Given the description of an element on the screen output the (x, y) to click on. 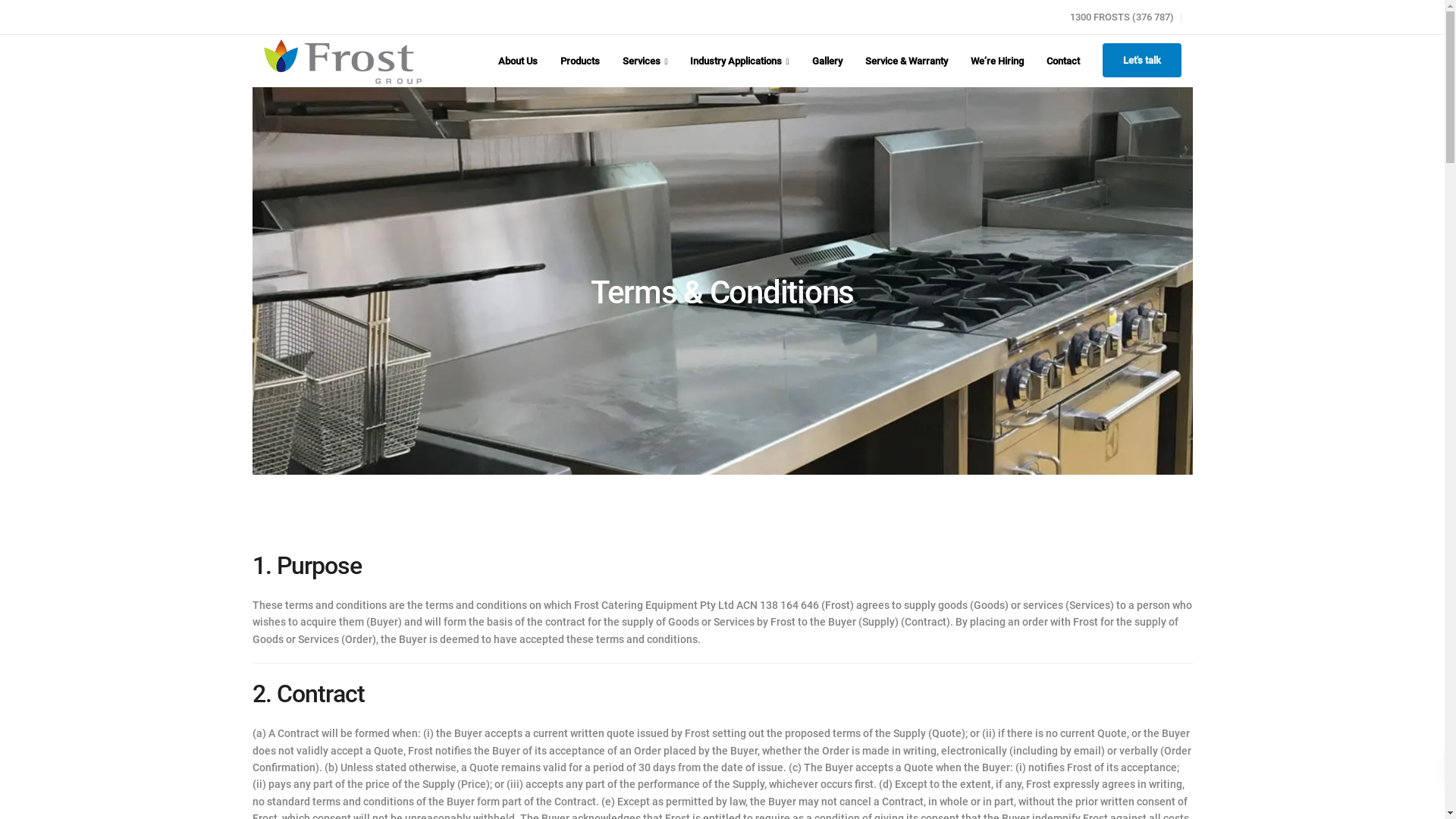
admin.sa@frostcatering.com.au Element type: text (857, 600)
admin@frostcatering.com.au Element type: text (584, 634)
08 8289 3154 Element type: text (817, 583)
Service & Warranty Element type: text (906, 59)
Home Element type: text (983, 540)
Services Element type: text (644, 59)
About Us Element type: text (990, 586)
Gallery Element type: text (826, 59)
Industry Applications Element type: text (739, 59)
Service & Warranty Element type: text (1014, 608)
Contact Element type: text (1062, 59)
Products Element type: text (990, 563)
Contact Element type: text (988, 631)
1300 FROSTS (376 787) Element type: text (1124, 16)
1300 FROSTS (376 787) Element type: text (577, 591)
@frost_group Element type: text (600, 651)
Web Design Newcastle - Redback Solutions Element type: text (1084, 790)
Frost Group Element type: text (595, 668)
Let's talk Element type: text (1141, 60)
Privacy policy Element type: text (1151, 771)
Terms and conditions Element type: text (1063, 771)
Products Element type: text (580, 59)
About Us Element type: text (517, 59)
